Given the description of an element on the screen output the (x, y) to click on. 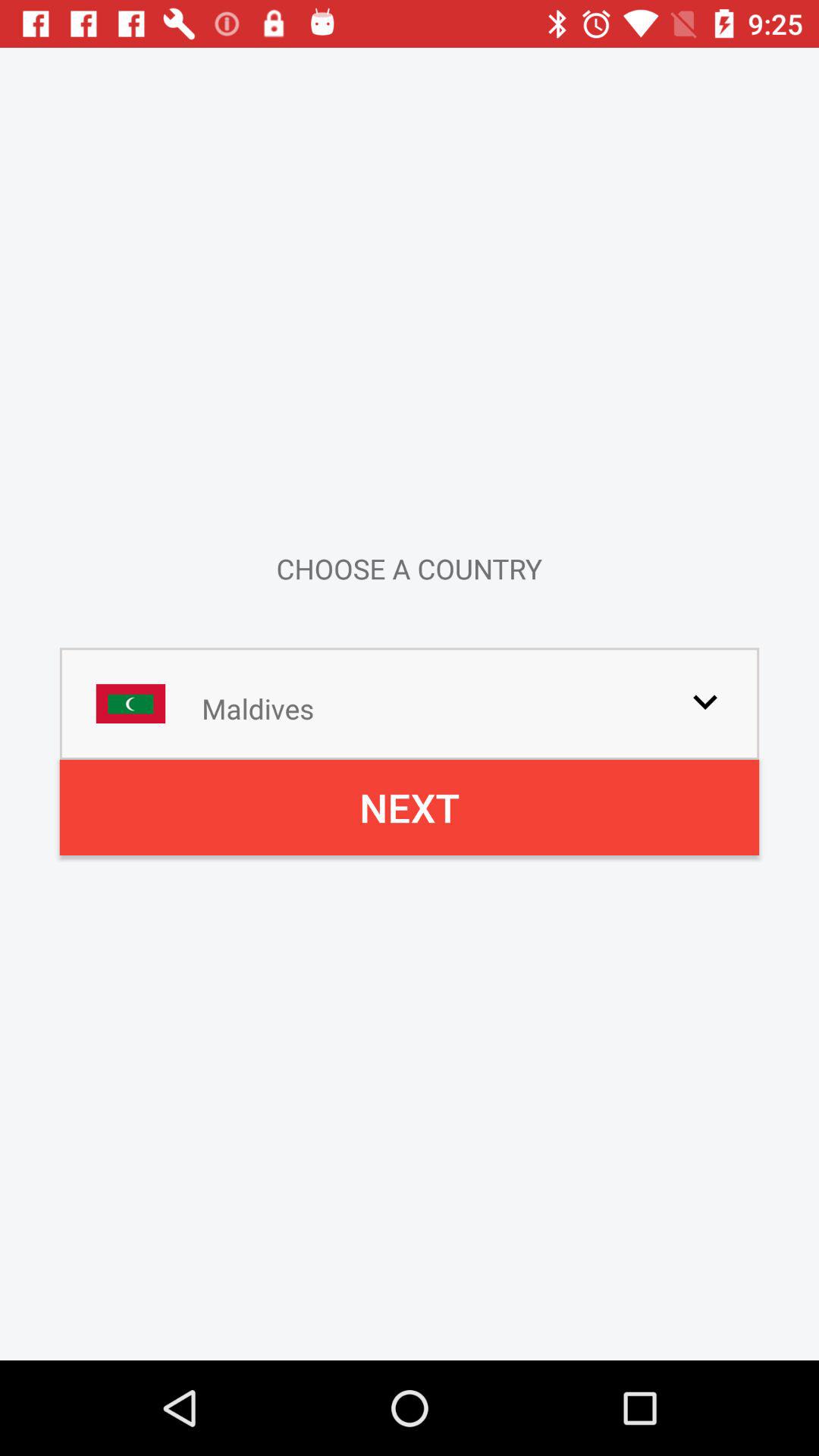
turn off the item next to maldives icon (705, 701)
